Given the description of an element on the screen output the (x, y) to click on. 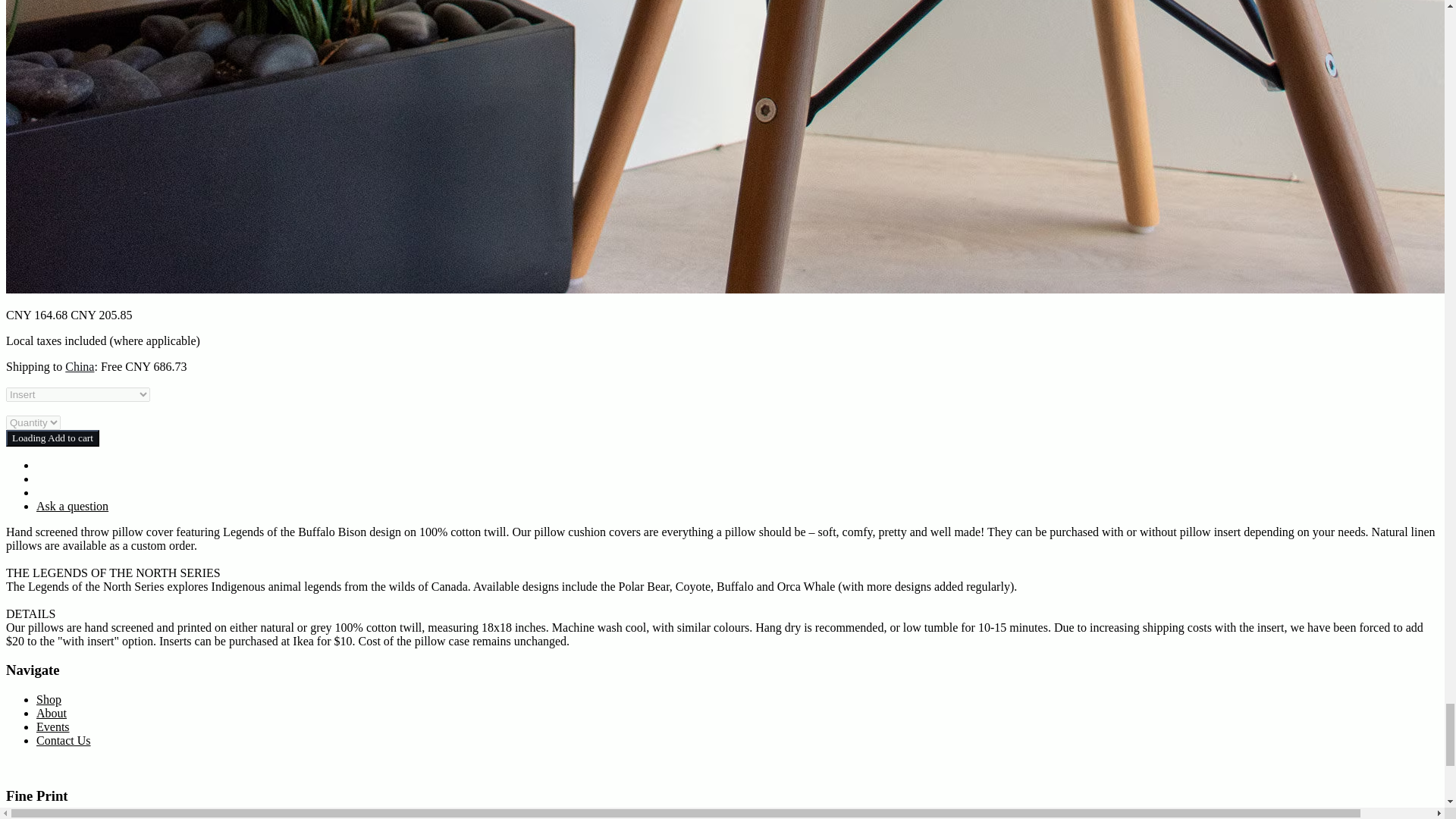
China (79, 366)
Contact Us (63, 739)
Events (52, 726)
Ask a question (71, 505)
Loading Add to cart (52, 437)
Shop (48, 698)
About (51, 712)
